Given the description of an element on the screen output the (x, y) to click on. 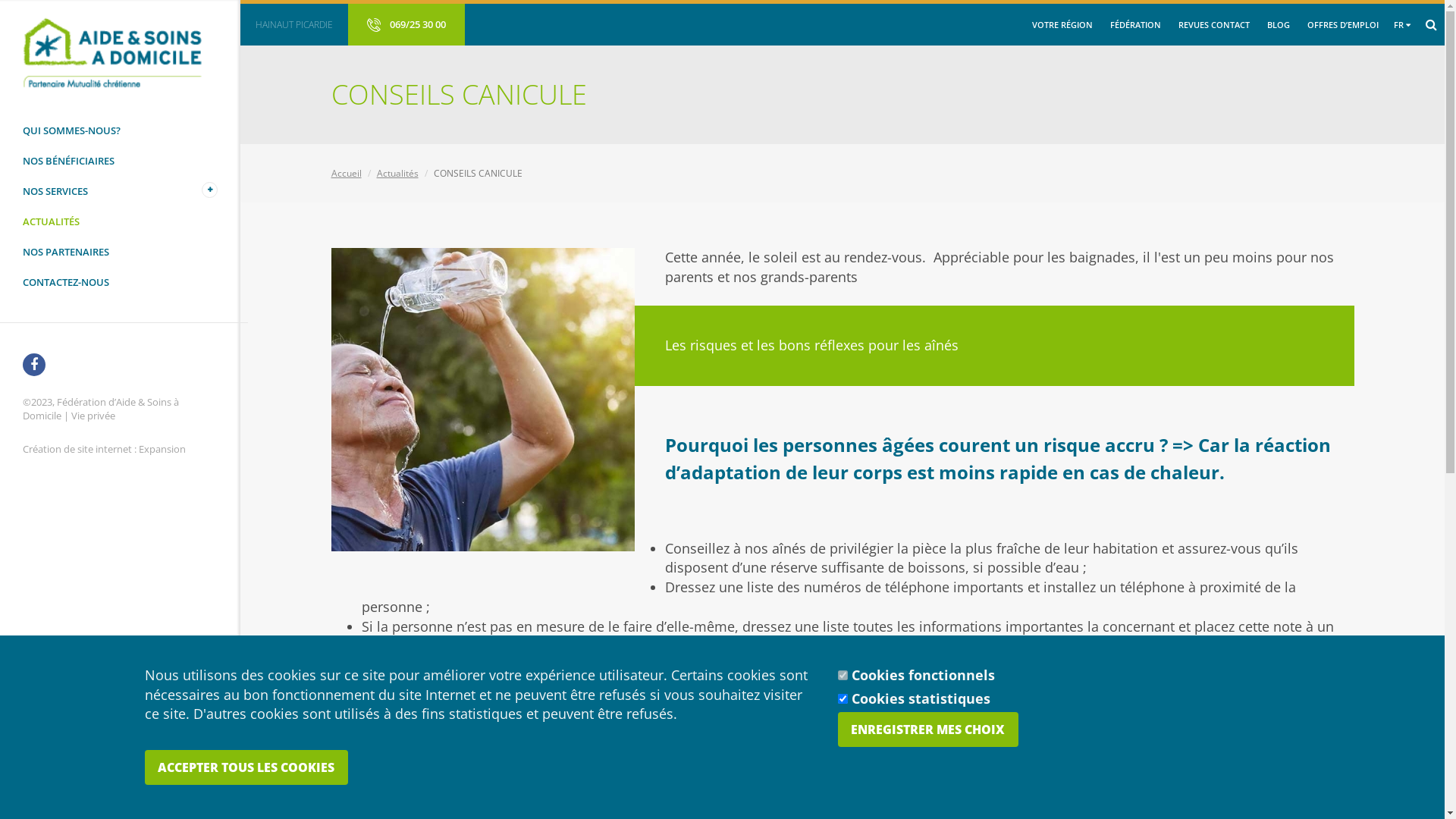
BLOG Element type: text (1278, 24)
NOS PARTENAIRES Element type: text (119, 251)
QUI SOMMES-NOUS? Element type: text (119, 130)
ENREGISTRER MES CHOIX Element type: text (927, 729)
NOS SERVICES Element type: text (119, 191)
Aller au contenu principal Element type: text (0, 0)
069/25 30 00 Element type: text (406, 24)
Accueil Element type: hover (119, 53)
ACCEPTER TOUS LES COOKIES Element type: text (245, 767)
Accueil Element type: text (346, 172)
REVUES CONTACT Element type: text (1213, 24)
CONTACTEZ-NOUS Element type: text (119, 282)
